Given the description of an element on the screen output the (x, y) to click on. 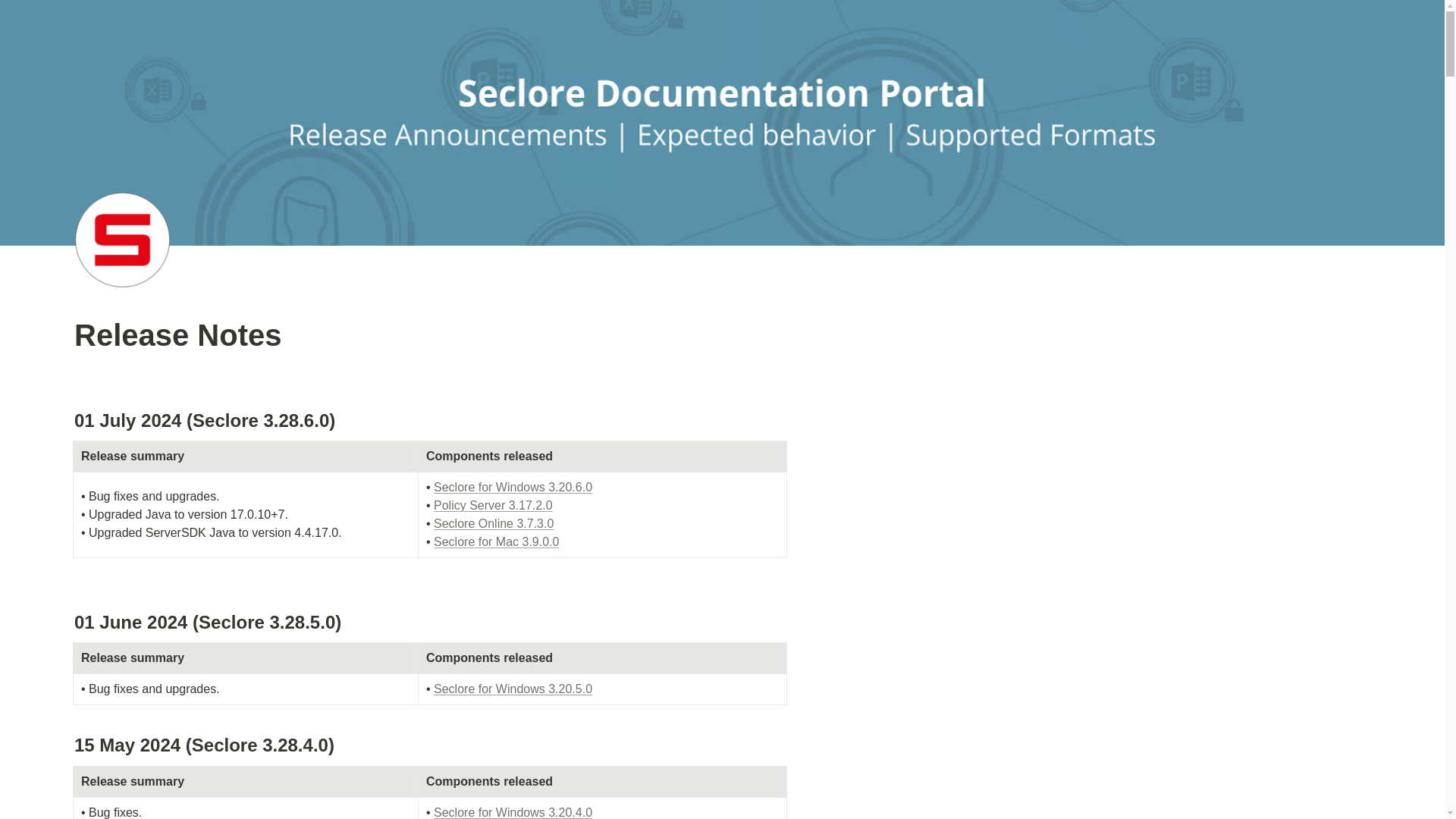
Seclore for Windows 3.20.6.0 (512, 486)
Seclore for Windows 3.20.5.0 (512, 688)
Seclore for Windows 3.20.4.0 (512, 812)
Seclore for Mac 3.9.0.0 (496, 541)
Seclore Online 3.7.3.0 (493, 522)
Policy Server 3.17.2.0 (493, 504)
